Given the description of an element on the screen output the (x, y) to click on. 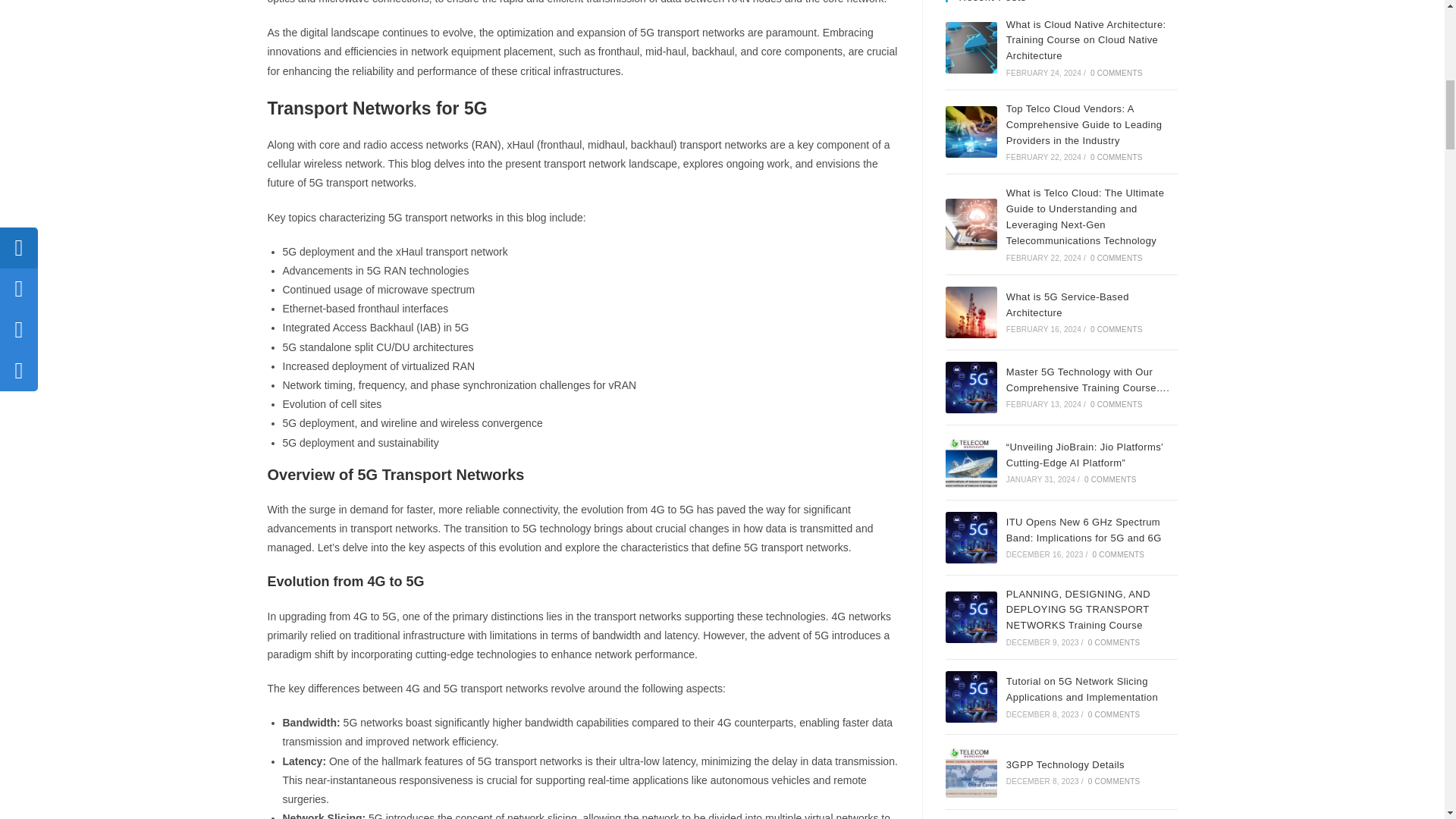
What is 5G Service-Based Architecture (969, 312)
3GPP Technology Details (969, 771)
